Given the description of an element on the screen output the (x, y) to click on. 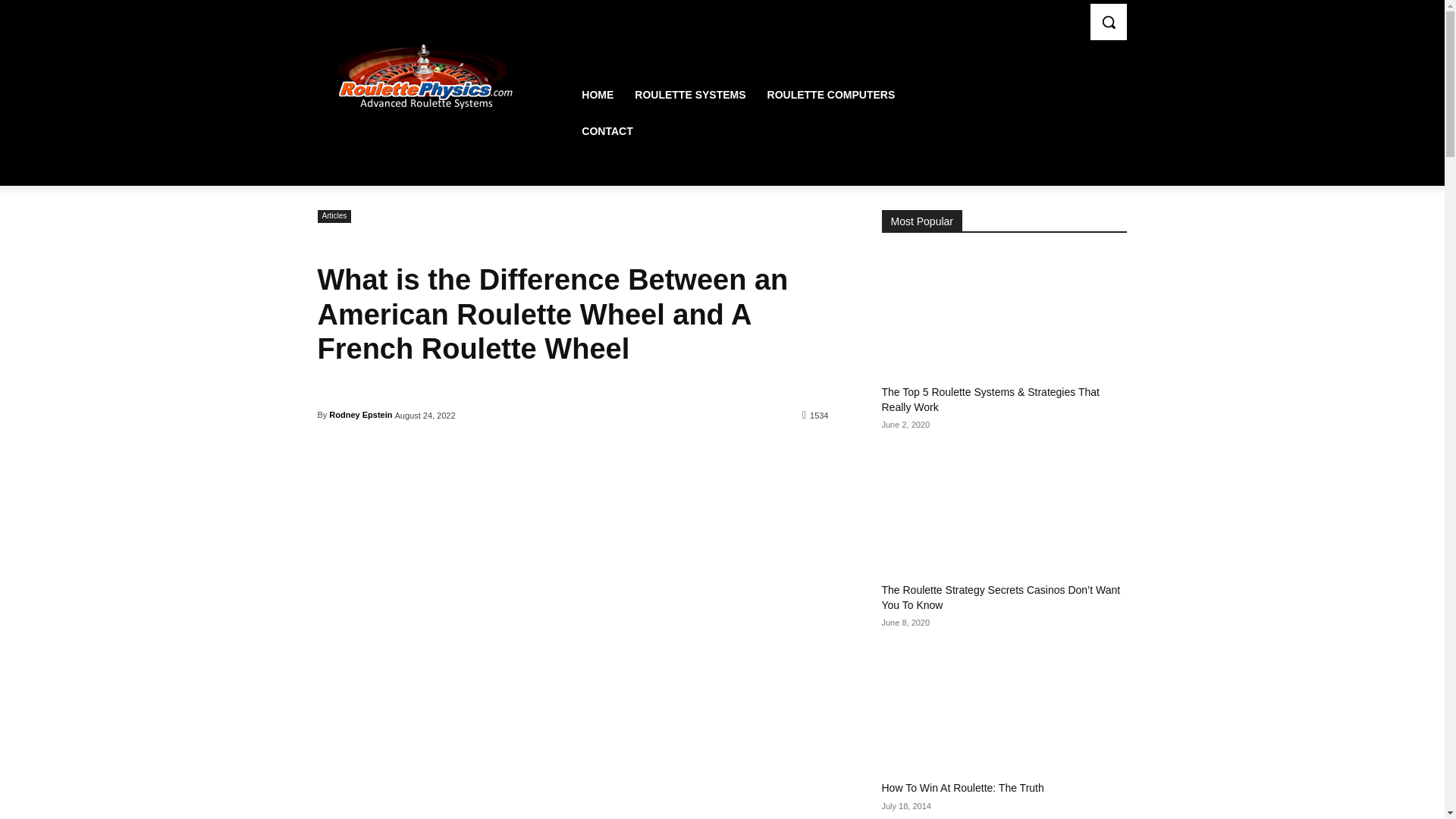
CONTACT (606, 131)
ROULETTE SYSTEMS (689, 94)
Articles (333, 215)
Rodney Epstein (360, 414)
ROULETTE COMPUTERS (831, 94)
HOME (597, 94)
